Given the description of an element on the screen output the (x, y) to click on. 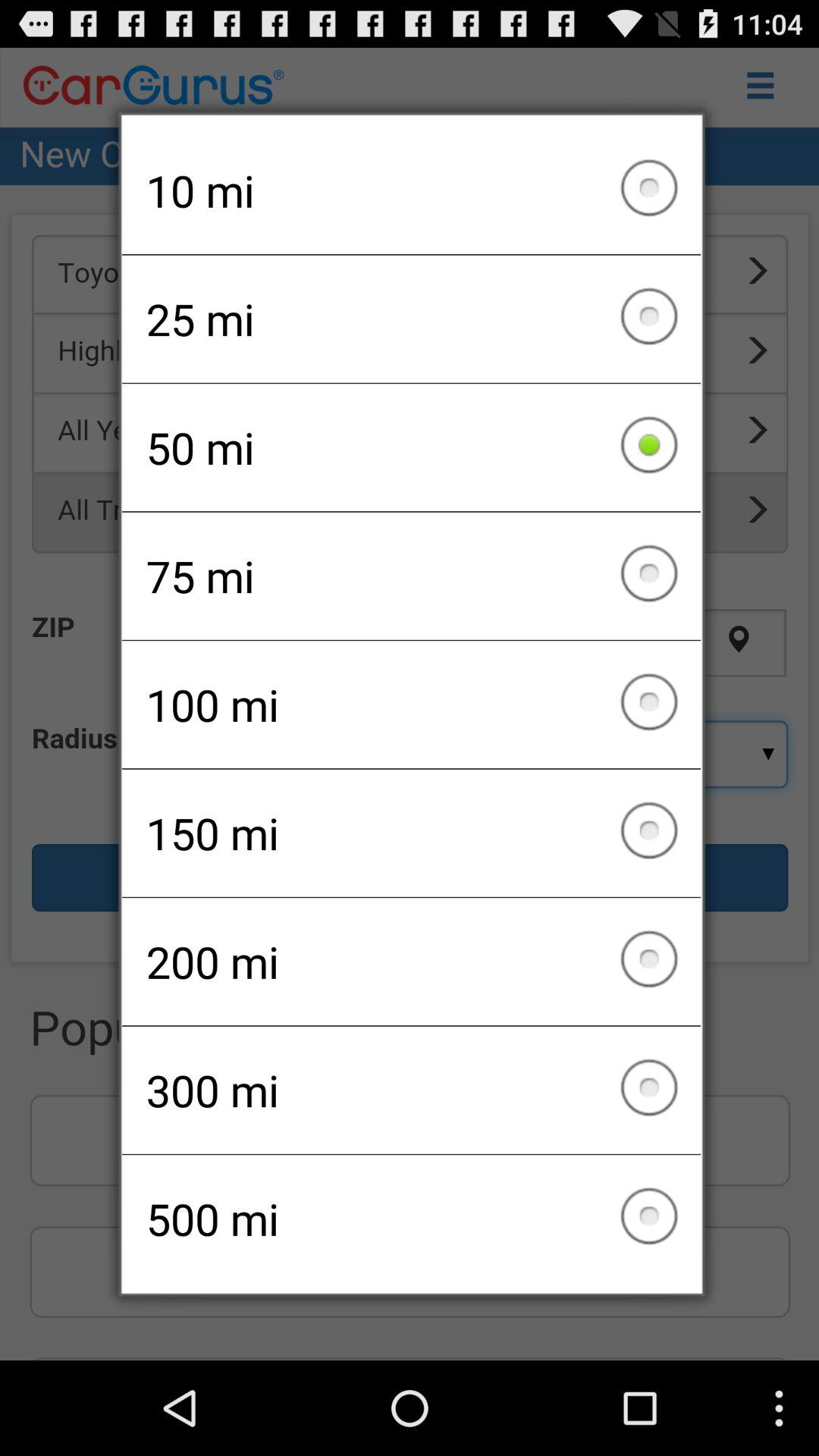
select checkbox above the 100 mi item (411, 575)
